Given the description of an element on the screen output the (x, y) to click on. 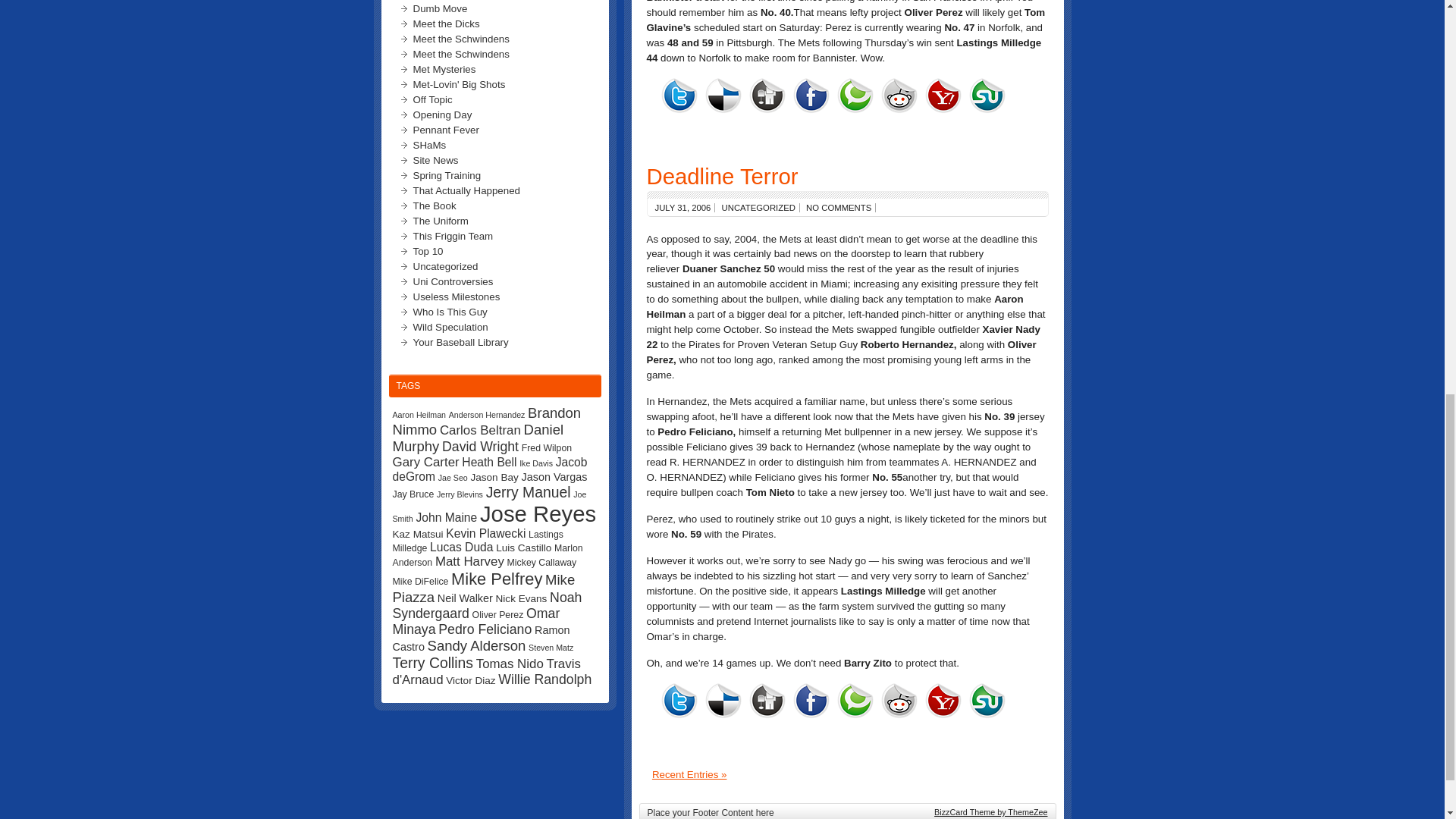
UNCATEGORIZED (758, 206)
NO COMMENTS (838, 206)
Deadline Terror (721, 175)
JULY 31, 2006 (683, 206)
